Given the description of an element on the screen output the (x, y) to click on. 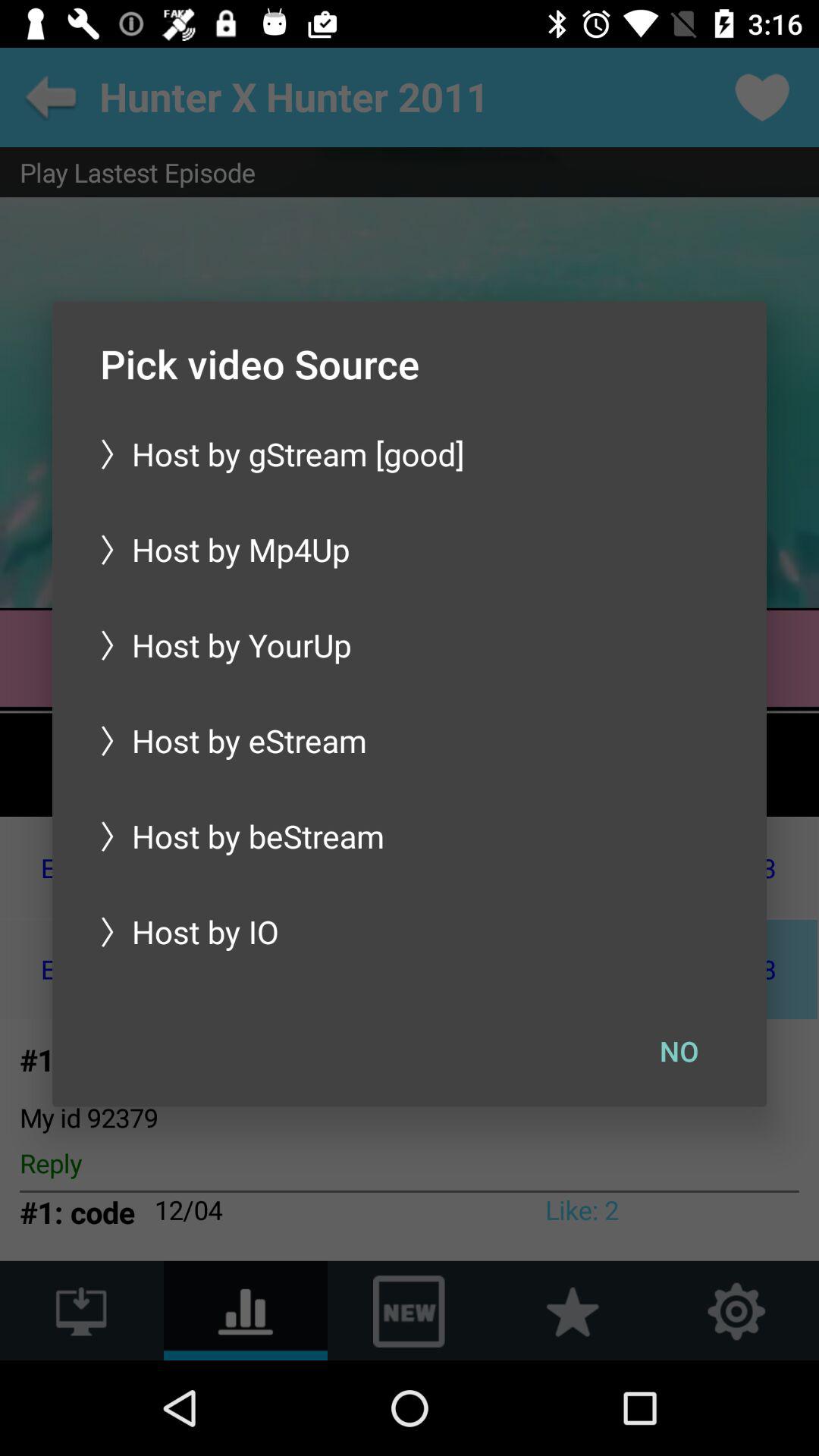
open no at the bottom right corner (678, 1050)
